Given the description of an element on the screen output the (x, y) to click on. 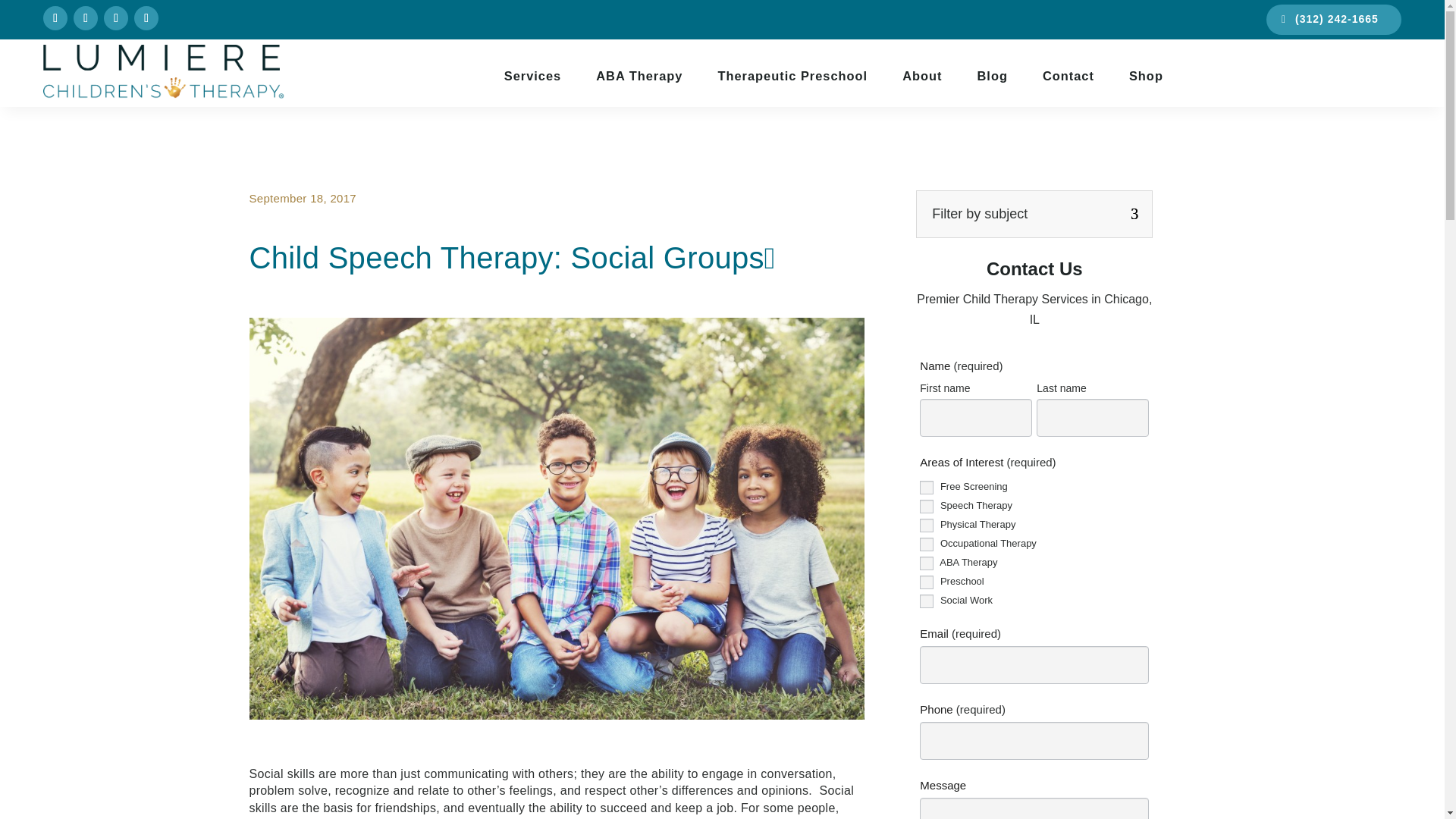
Contact (1068, 76)
Therapeutic Preschool (791, 76)
Follow on LinkedIn (115, 17)
Occupational Therapy (926, 544)
Follow on Instagram (85, 17)
Speech Therapy (926, 506)
Follow on Facebook (54, 17)
Physical Therapy (926, 525)
About (921, 76)
Follow on Youtube (145, 17)
Preschool (926, 581)
ABA Therapy (926, 563)
ABA Therapy (638, 76)
Social Work (926, 601)
Services (532, 76)
